Given the description of an element on the screen output the (x, y) to click on. 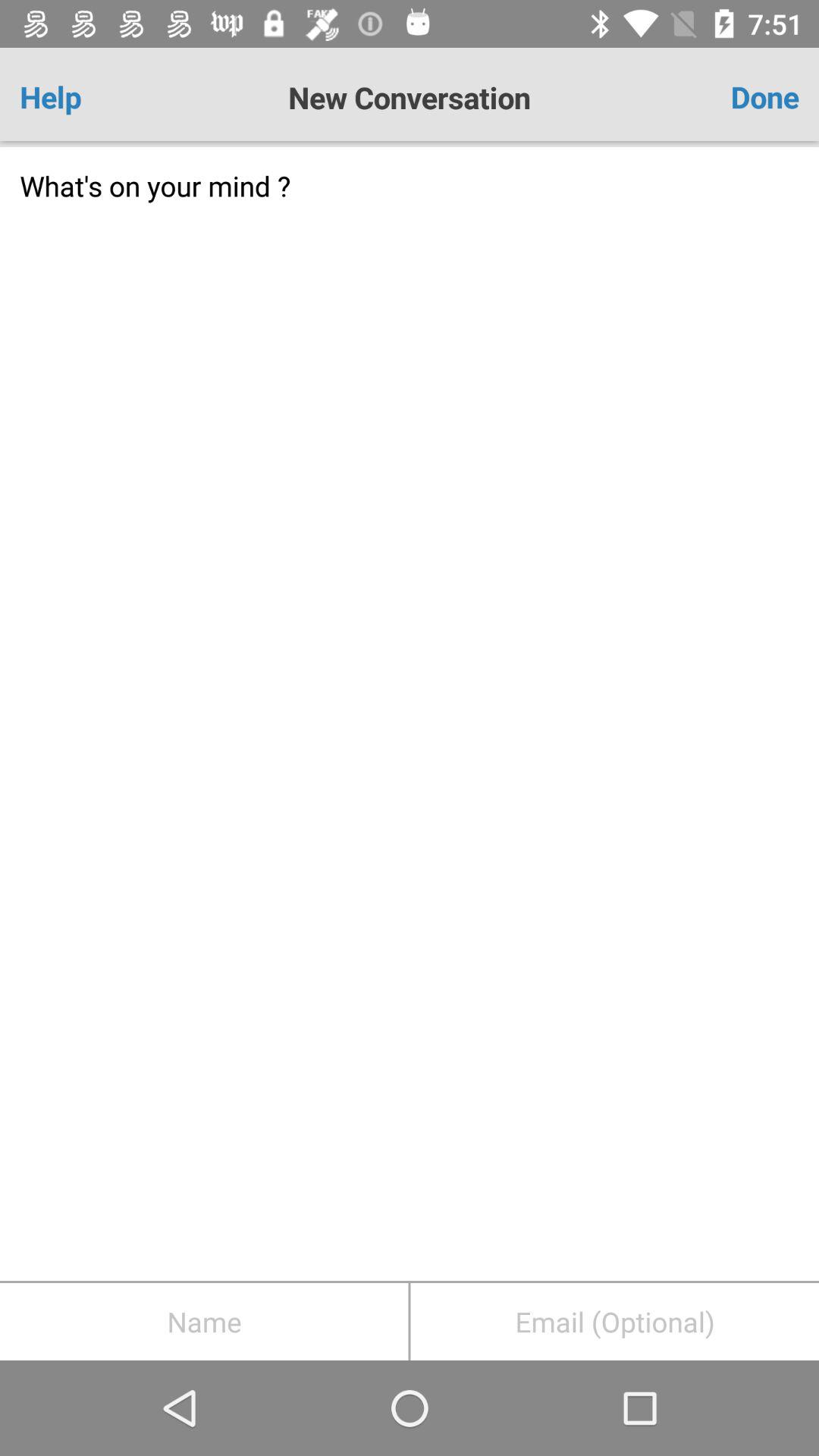
scroll until the done (735, 97)
